Given the description of an element on the screen output the (x, y) to click on. 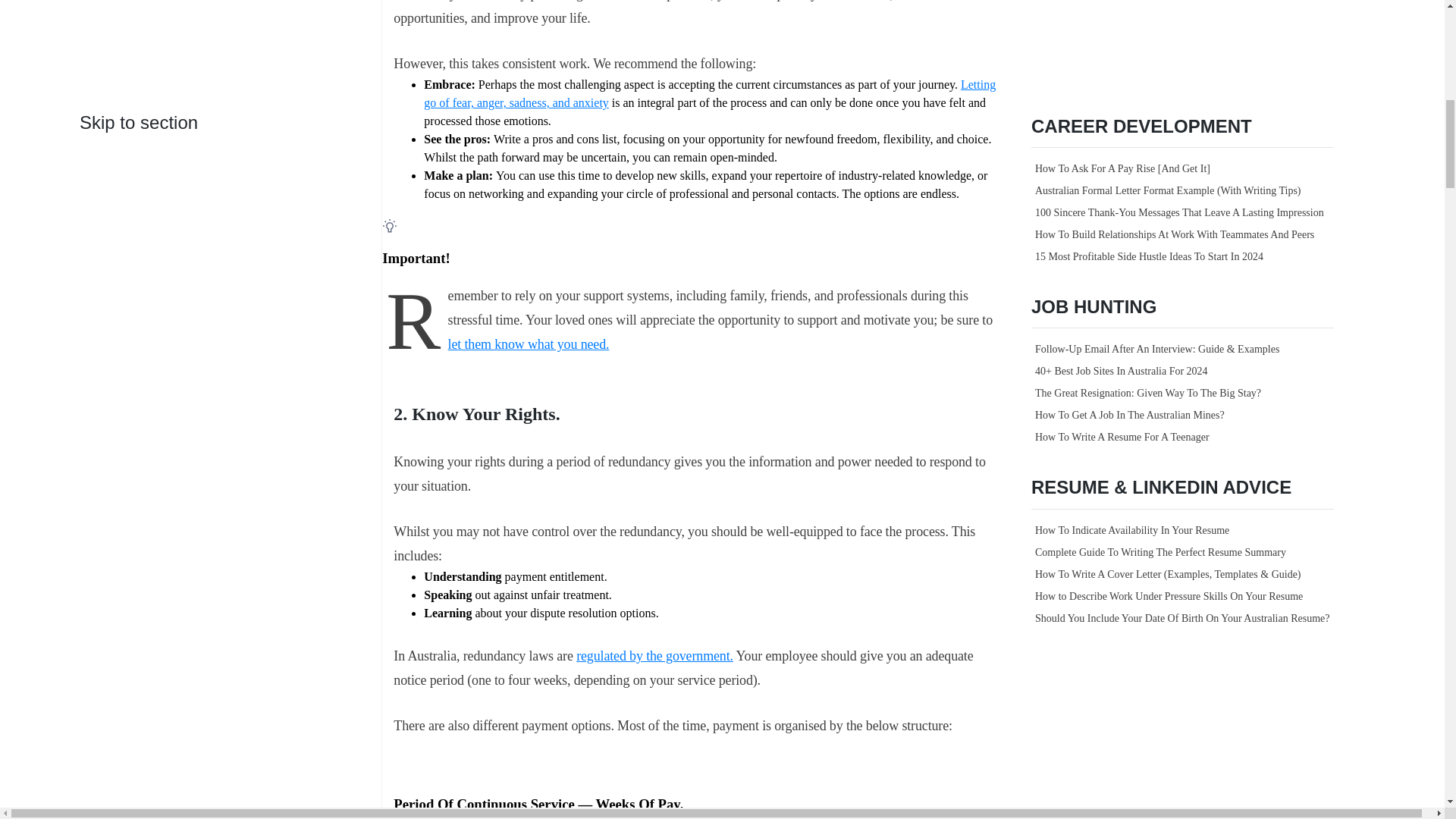
regulated by the government. (654, 655)
let them know what you need. (529, 344)
Letting go of fear, anger, sadness, and anxiety (709, 92)
